Given the description of an element on the screen output the (x, y) to click on. 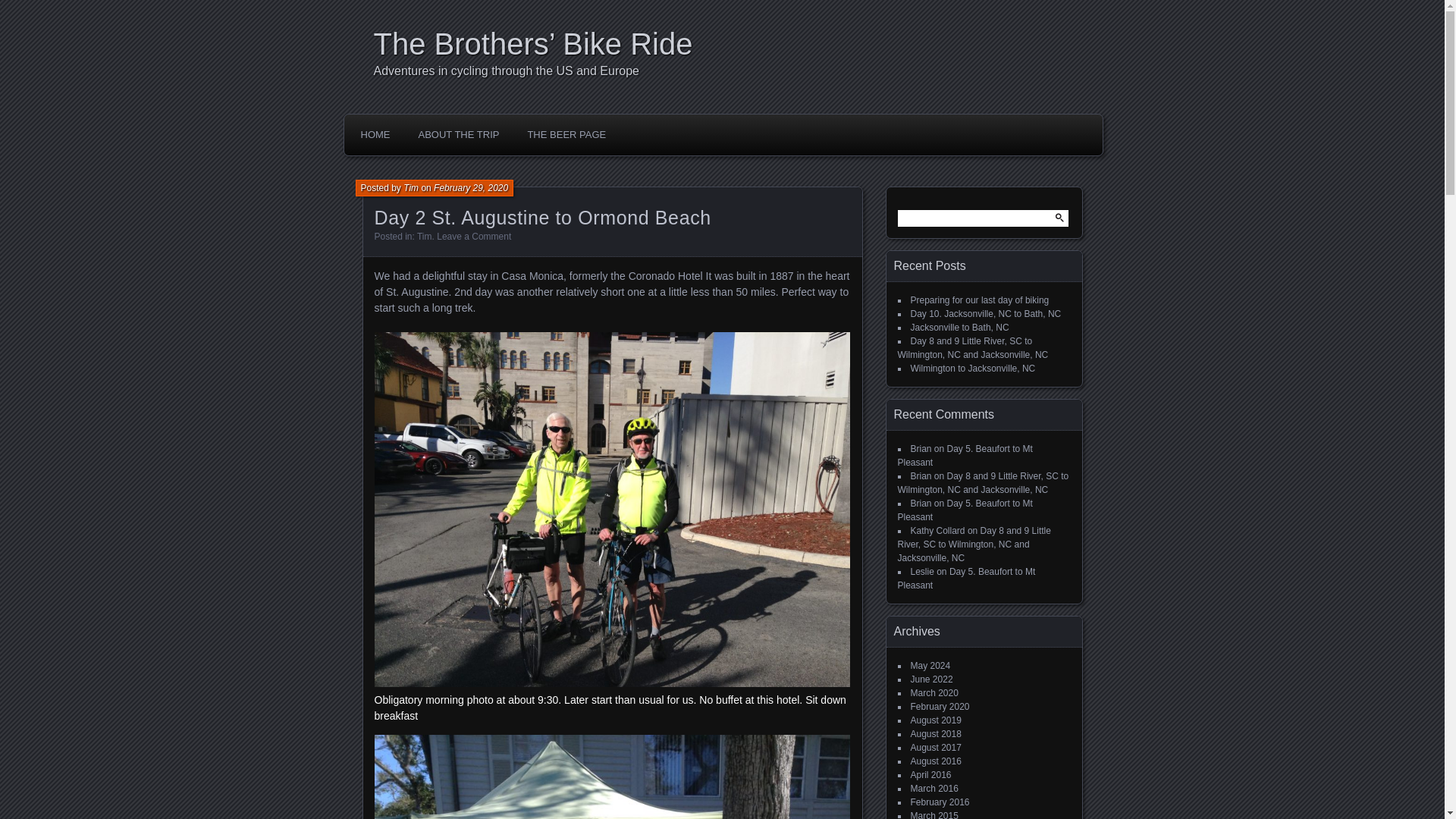
March 2020 (934, 692)
Preparing for our last day of biking (979, 299)
Day 5. Beaufort to Mt Pleasant (965, 509)
Day 5. Beaufort to Mt Pleasant (966, 578)
Day 10. Jacksonville, NC to Bath, NC (985, 313)
Tim (424, 235)
HOME (375, 134)
Day 5. Beaufort to Mt Pleasant (965, 455)
February 29, 2020 (470, 187)
April 2016 (930, 774)
June 2022 (931, 679)
Tim (411, 187)
March 2015 (934, 814)
